Given the description of an element on the screen output the (x, y) to click on. 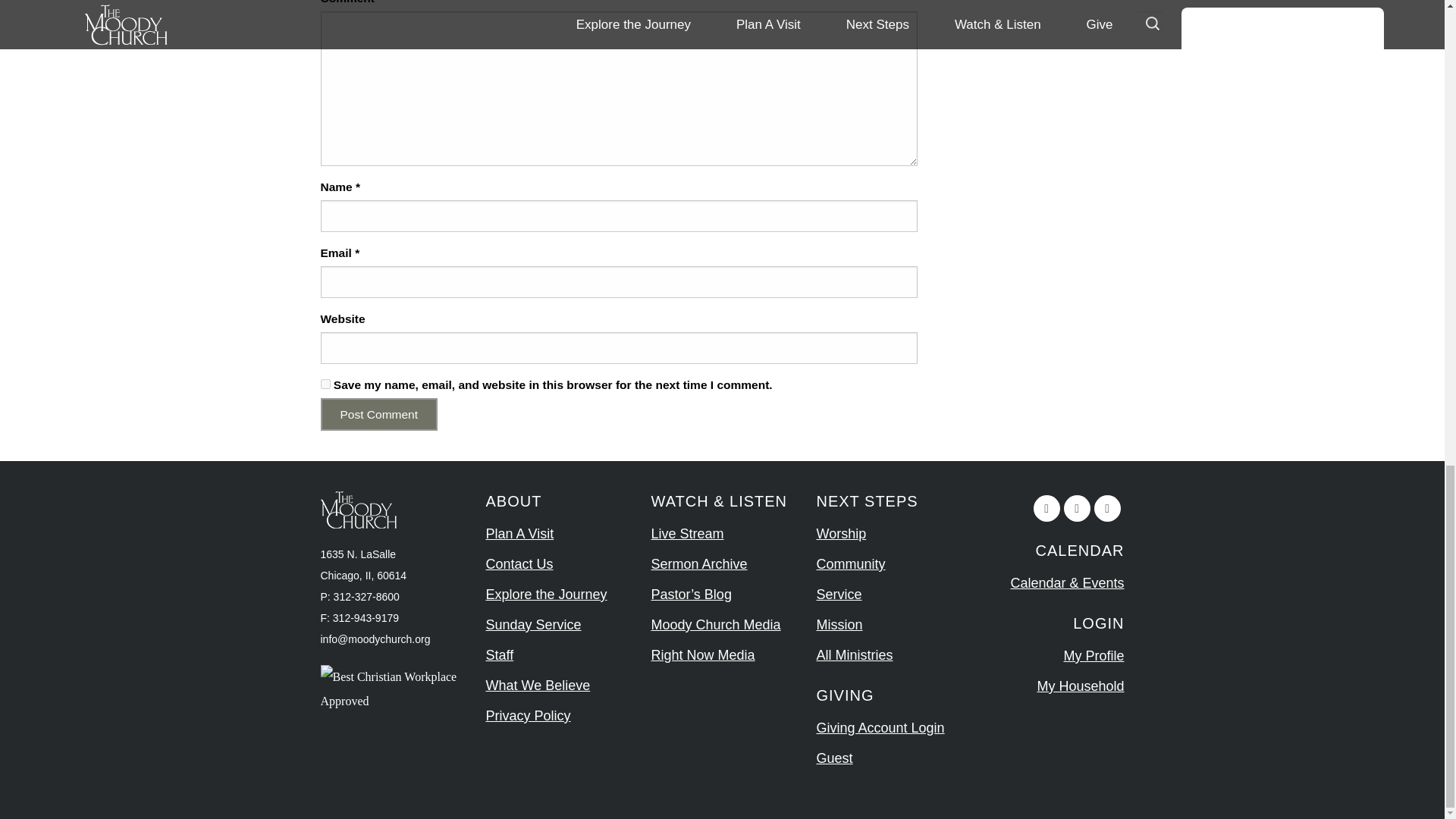
Post Comment (379, 414)
Post Comment (379, 414)
yes (325, 384)
